Given the description of an element on the screen output the (x, y) to click on. 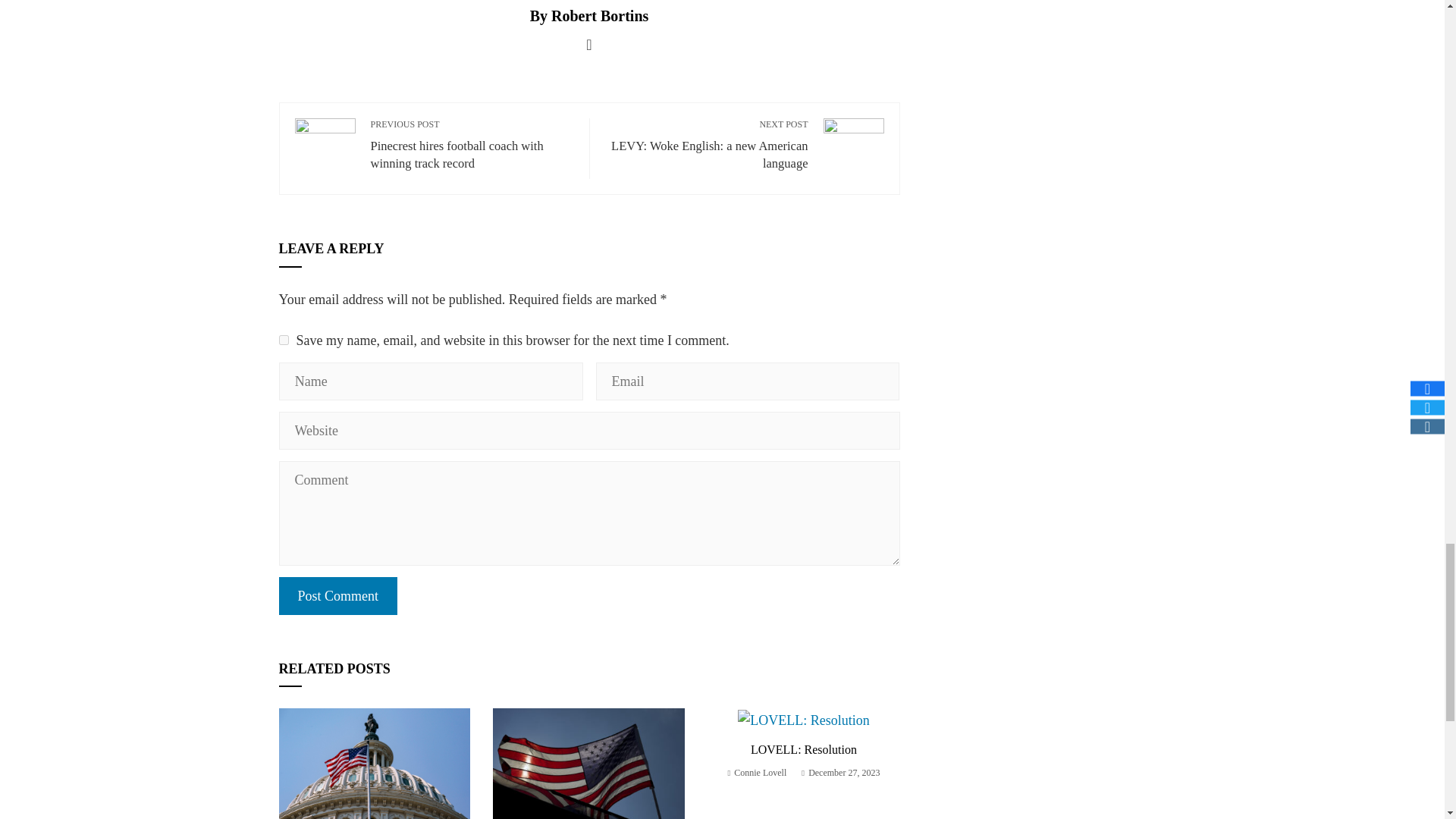
Post Comment (338, 596)
yes (283, 339)
LOVELL: Resolution (804, 748)
